Given the description of an element on the screen output the (x, y) to click on. 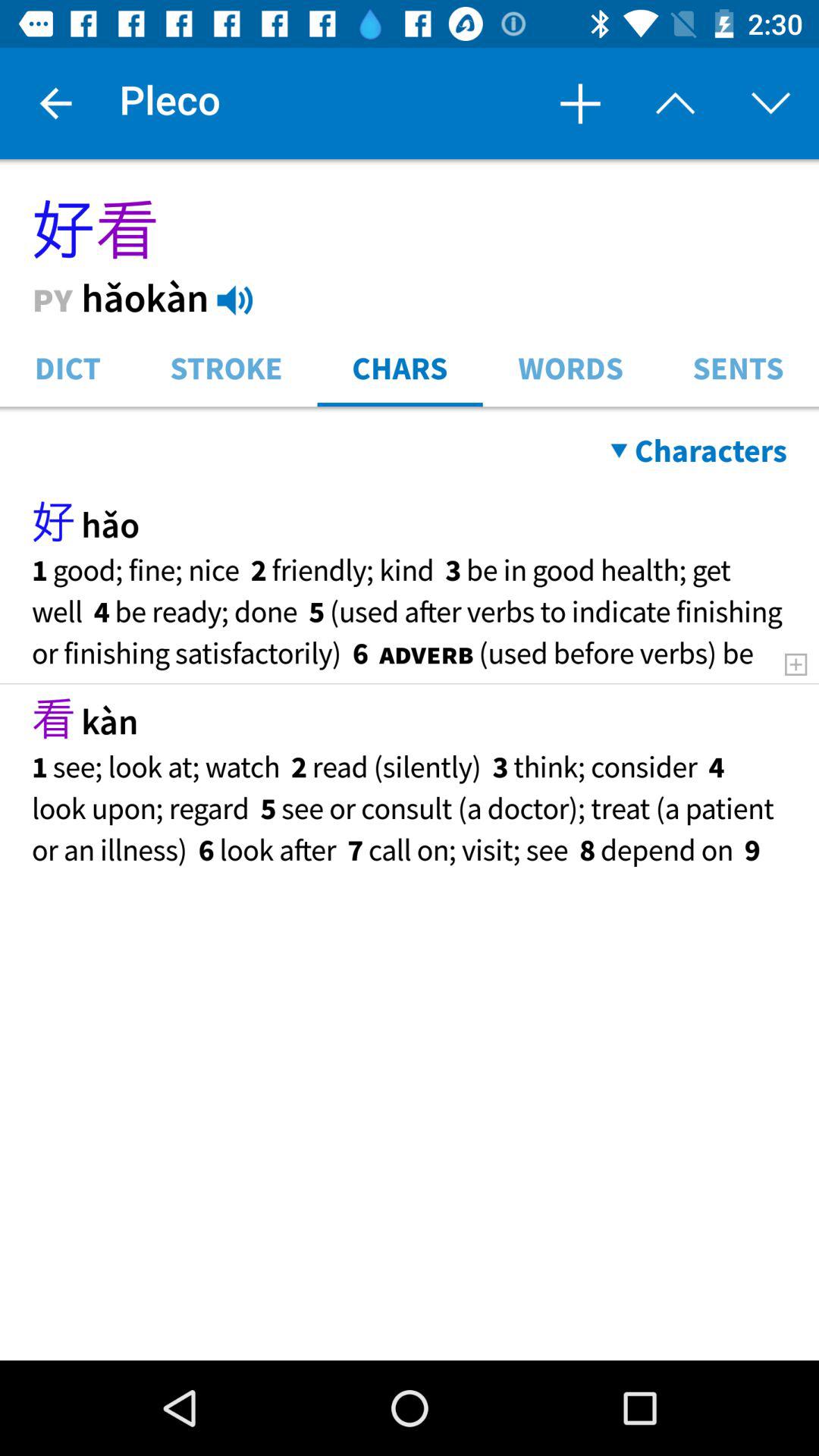
turn off item next to pleco item (55, 103)
